Given the description of an element on the screen output the (x, y) to click on. 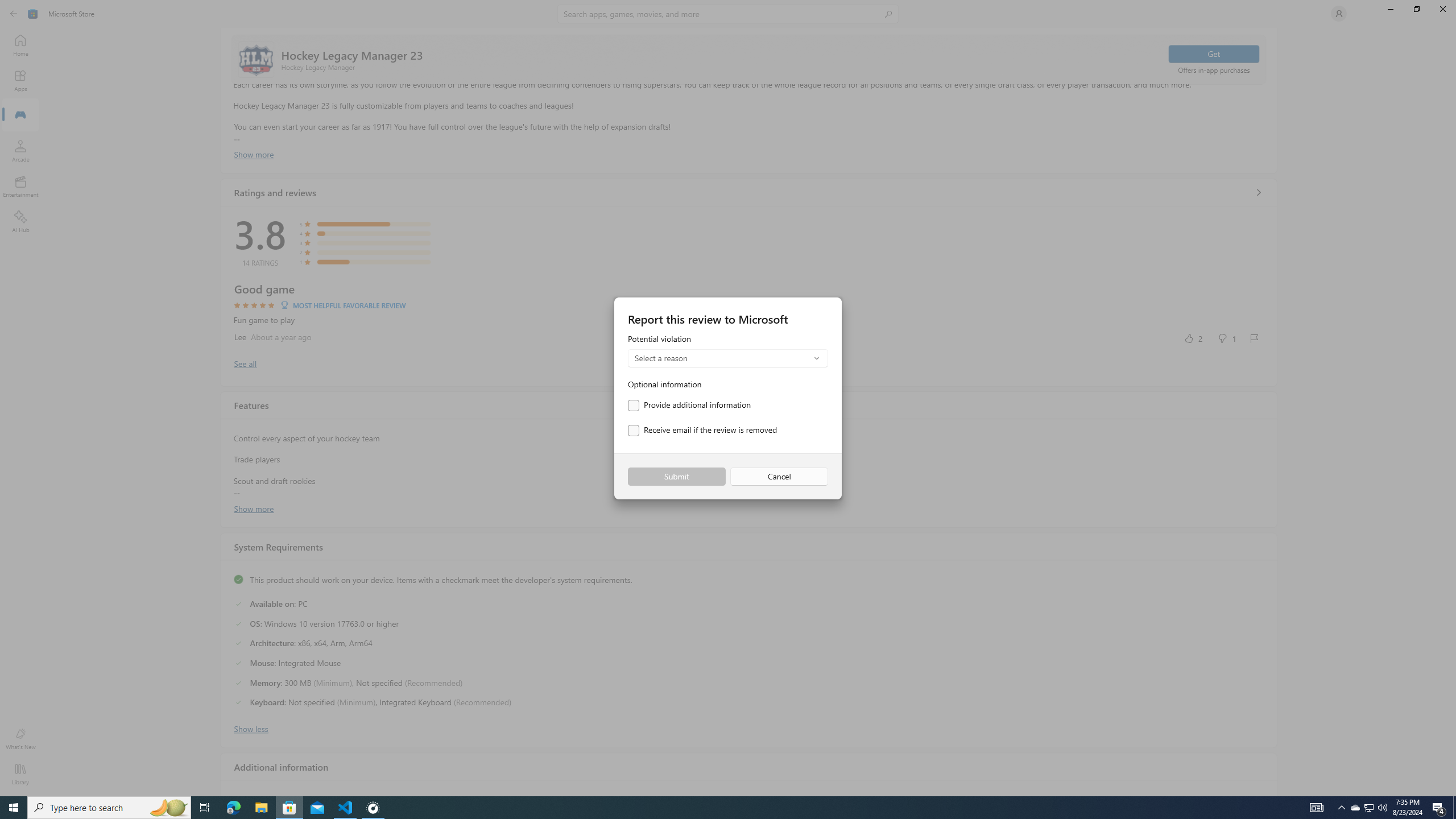
Submit (676, 476)
Receive email if the review is removed (702, 430)
Scroll to top (748, 59)
Show less (250, 728)
Show all ratings and reviews (1258, 192)
Get (1213, 53)
Show more (253, 507)
